Given the description of an element on the screen output the (x, y) to click on. 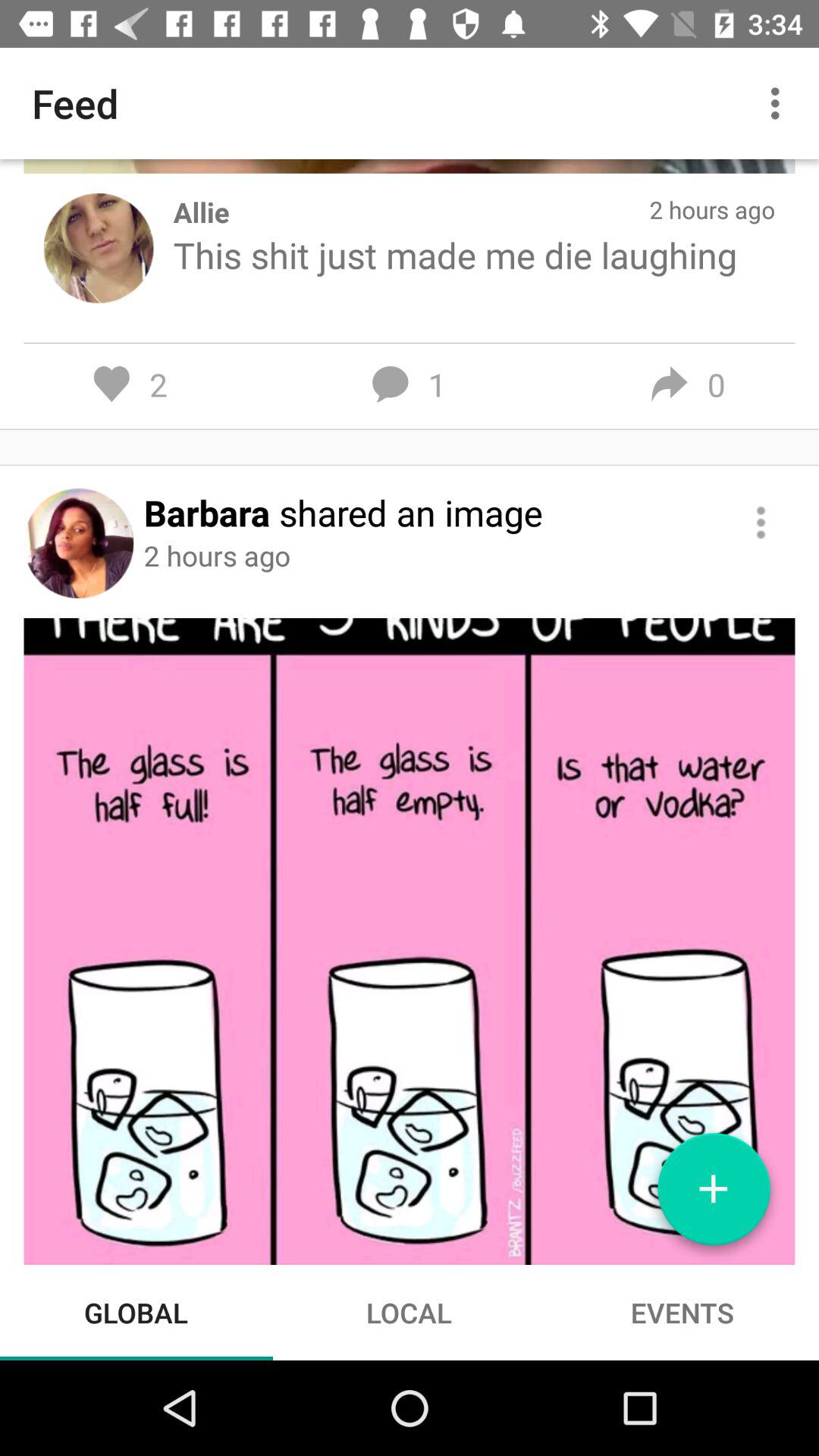
tap icon to the right of the barbara shared an (760, 522)
